Given the description of an element on the screen output the (x, y) to click on. 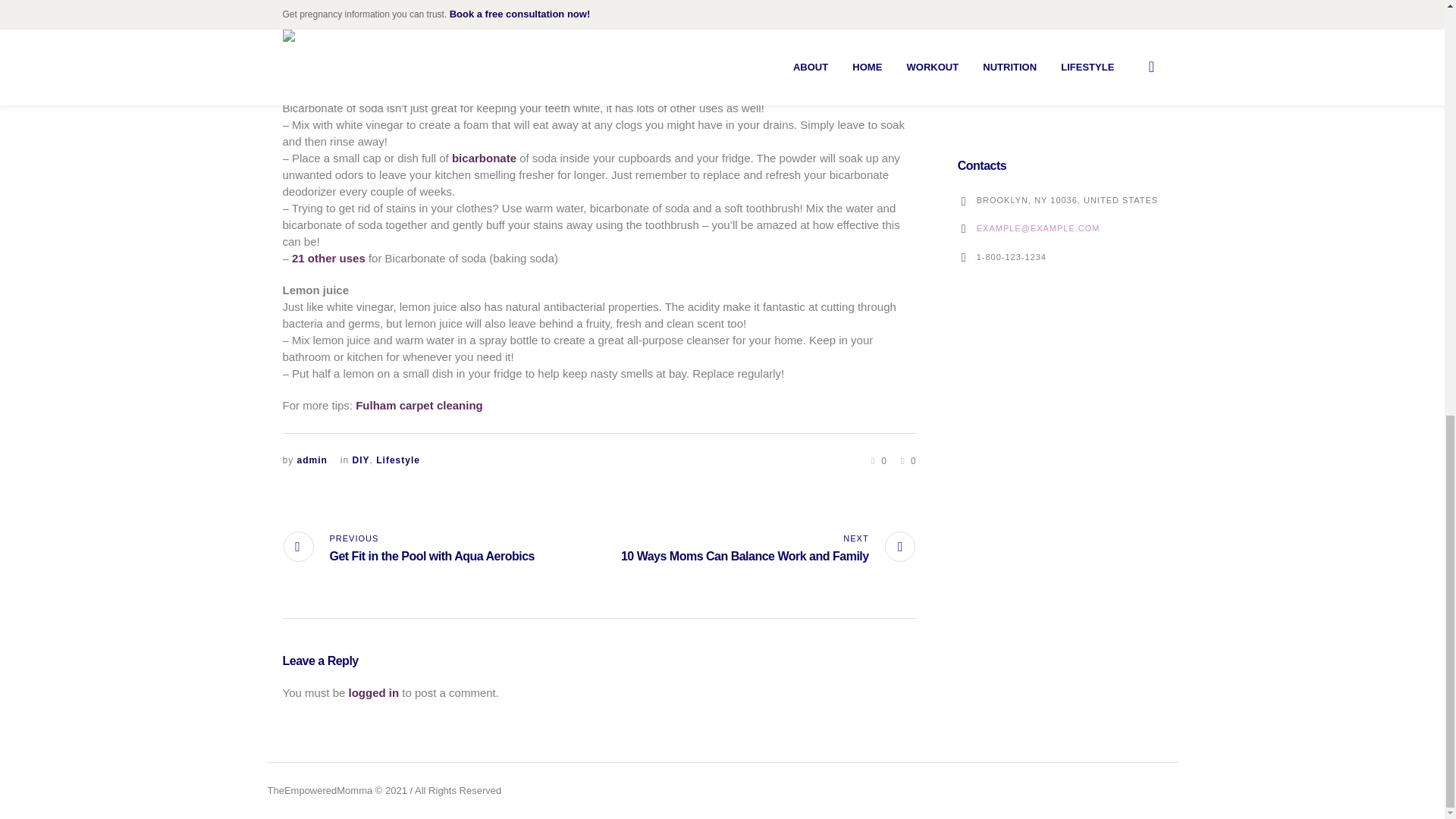
Fulham carpet cleaning (419, 404)
Get Fit in the Pool with Aqua Aerobics (408, 548)
Lifestyle (397, 460)
0 (876, 460)
10 Ways Moms Can Balance Work and Family (768, 548)
bicarbonate (483, 157)
Tomy Breast Pump Review (1073, 78)
21 other uses (328, 257)
Breast Pump Bag Reviews (976, 28)
Comment on How to make your own cleaning products! (905, 460)
logged in (373, 692)
Tomy Breast Pump Review (976, 82)
July 4, 2021 (1072, 39)
0 (905, 460)
DIY (360, 460)
